Given the description of an element on the screen output the (x, y) to click on. 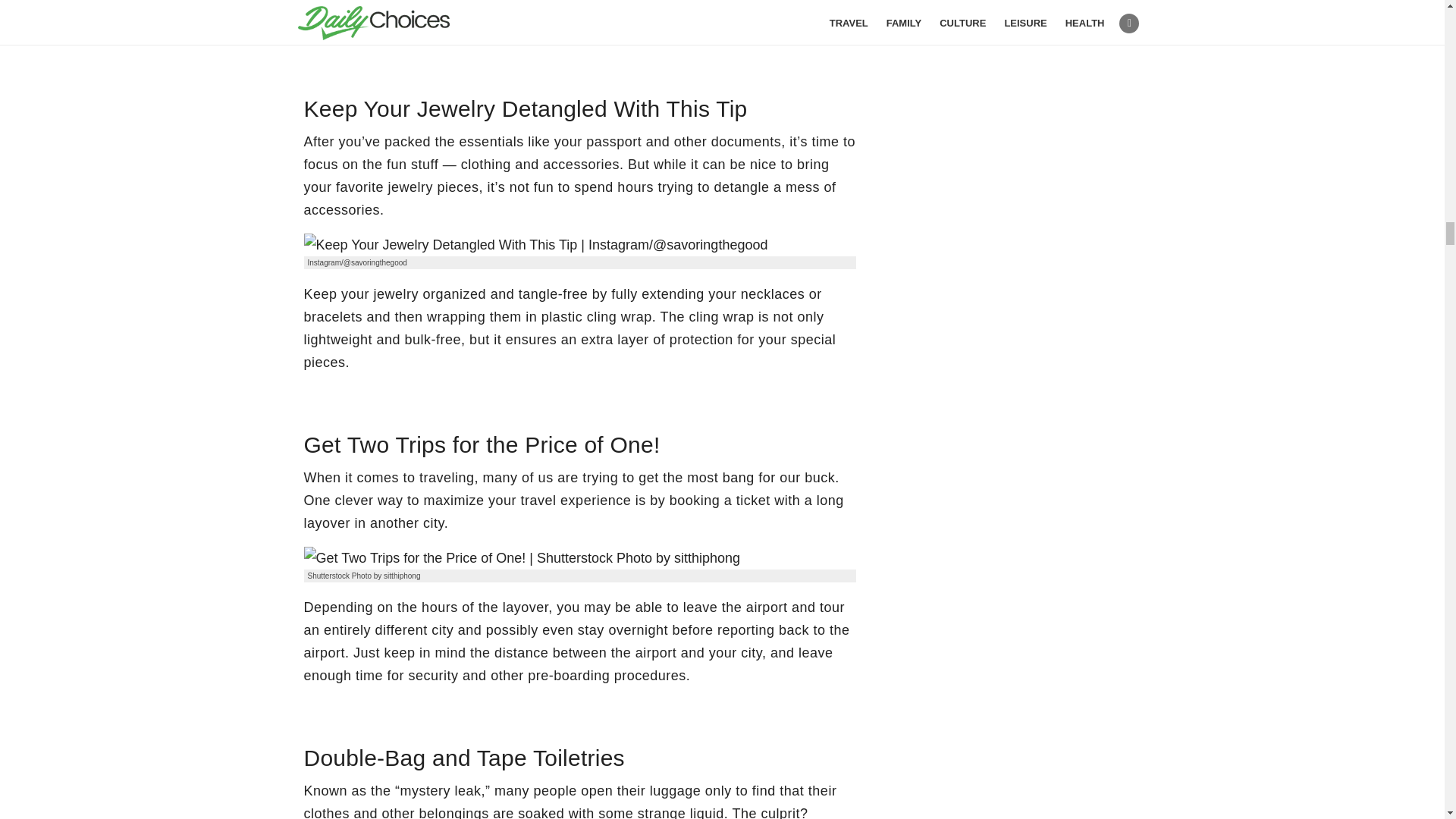
Keep Your Jewelry Detangled With This Tip (534, 244)
